Given the description of an element on the screen output the (x, y) to click on. 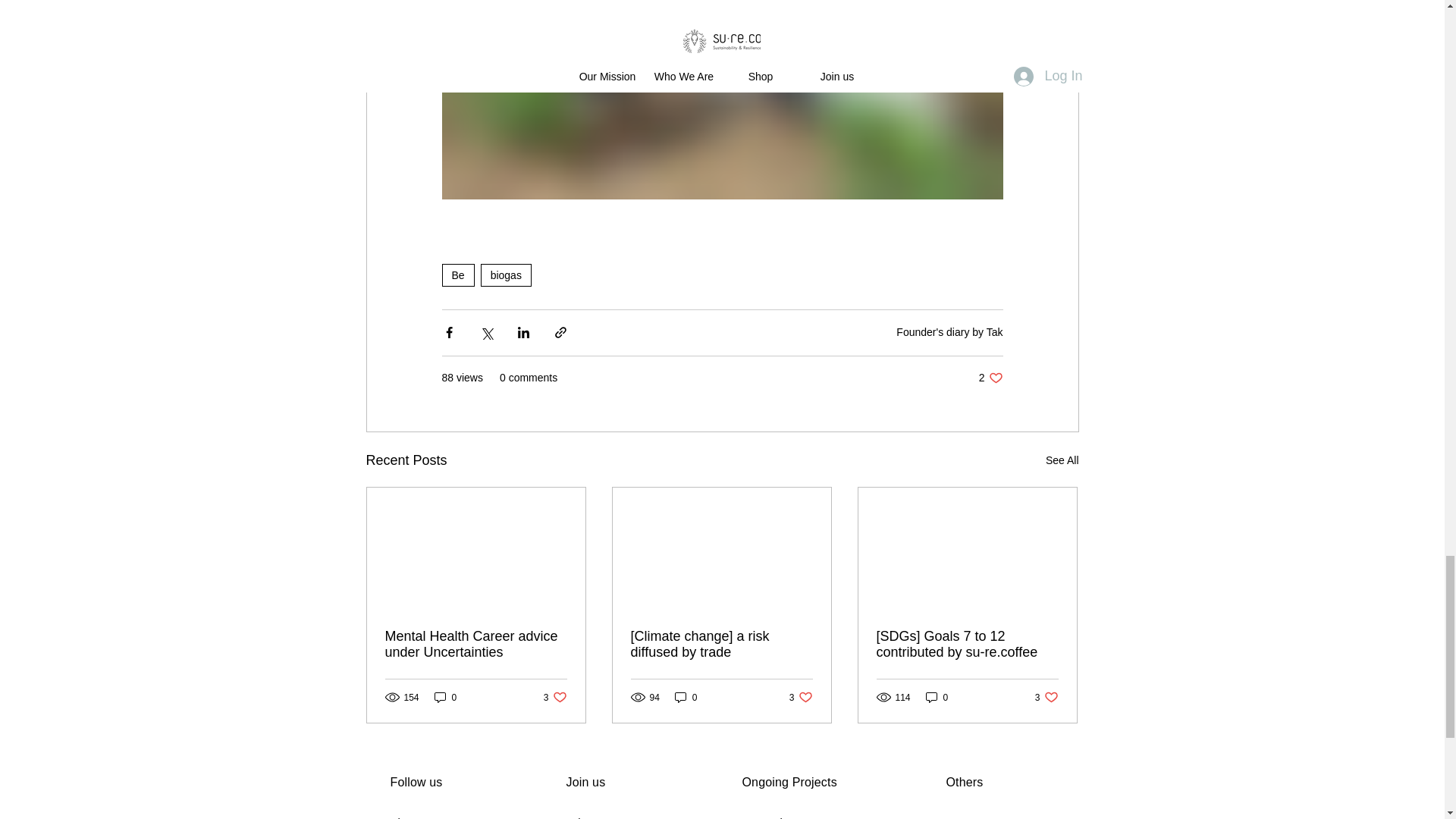
See All (1061, 460)
0 (800, 697)
Mental Health Career advice under Uncertainties (685, 697)
biogas (476, 644)
0 (505, 274)
Founder's diary by Tak (990, 377)
Be (445, 697)
